Given the description of an element on the screen output the (x, y) to click on. 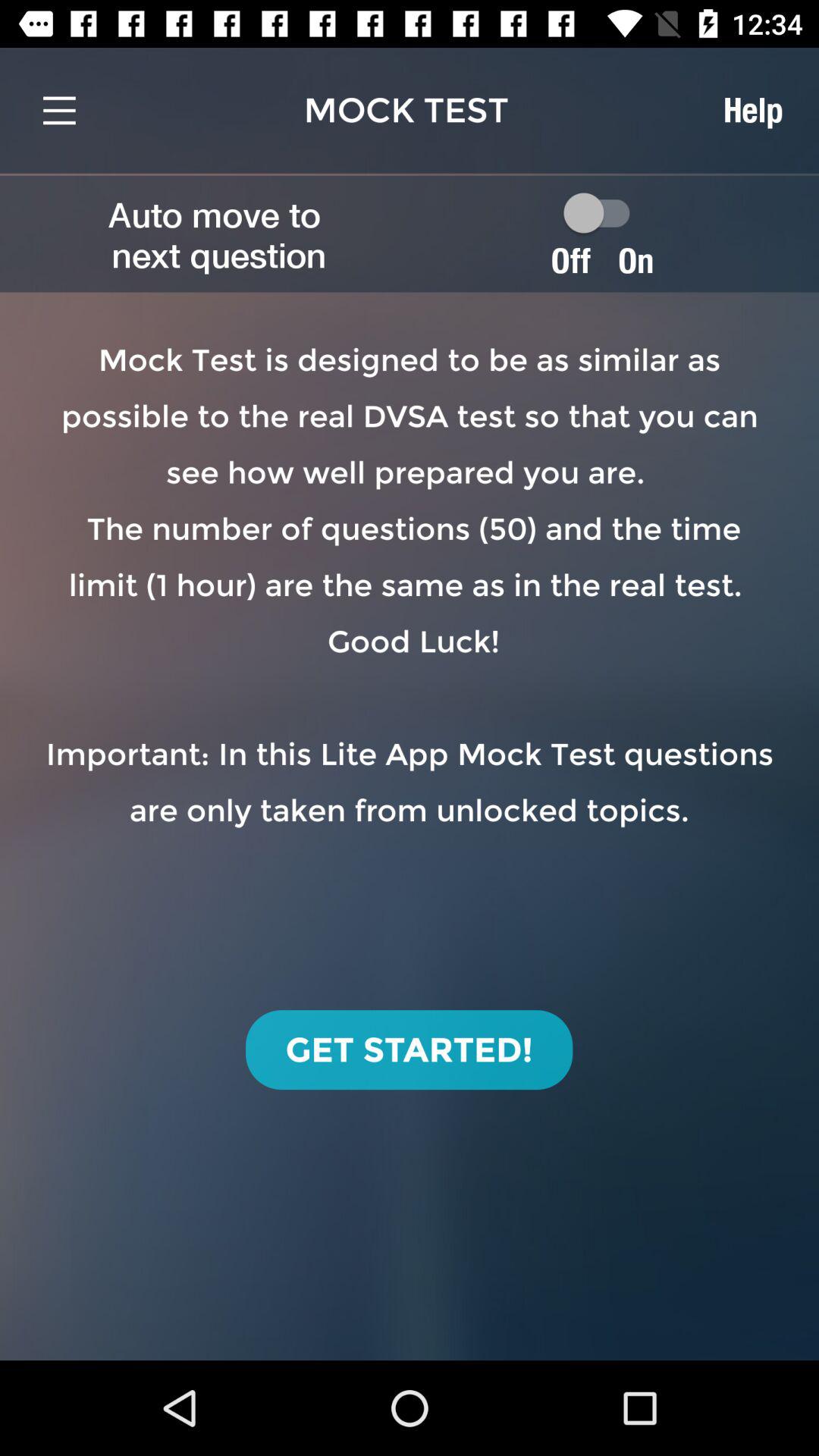
tap the help icon (752, 110)
